Given the description of an element on the screen output the (x, y) to click on. 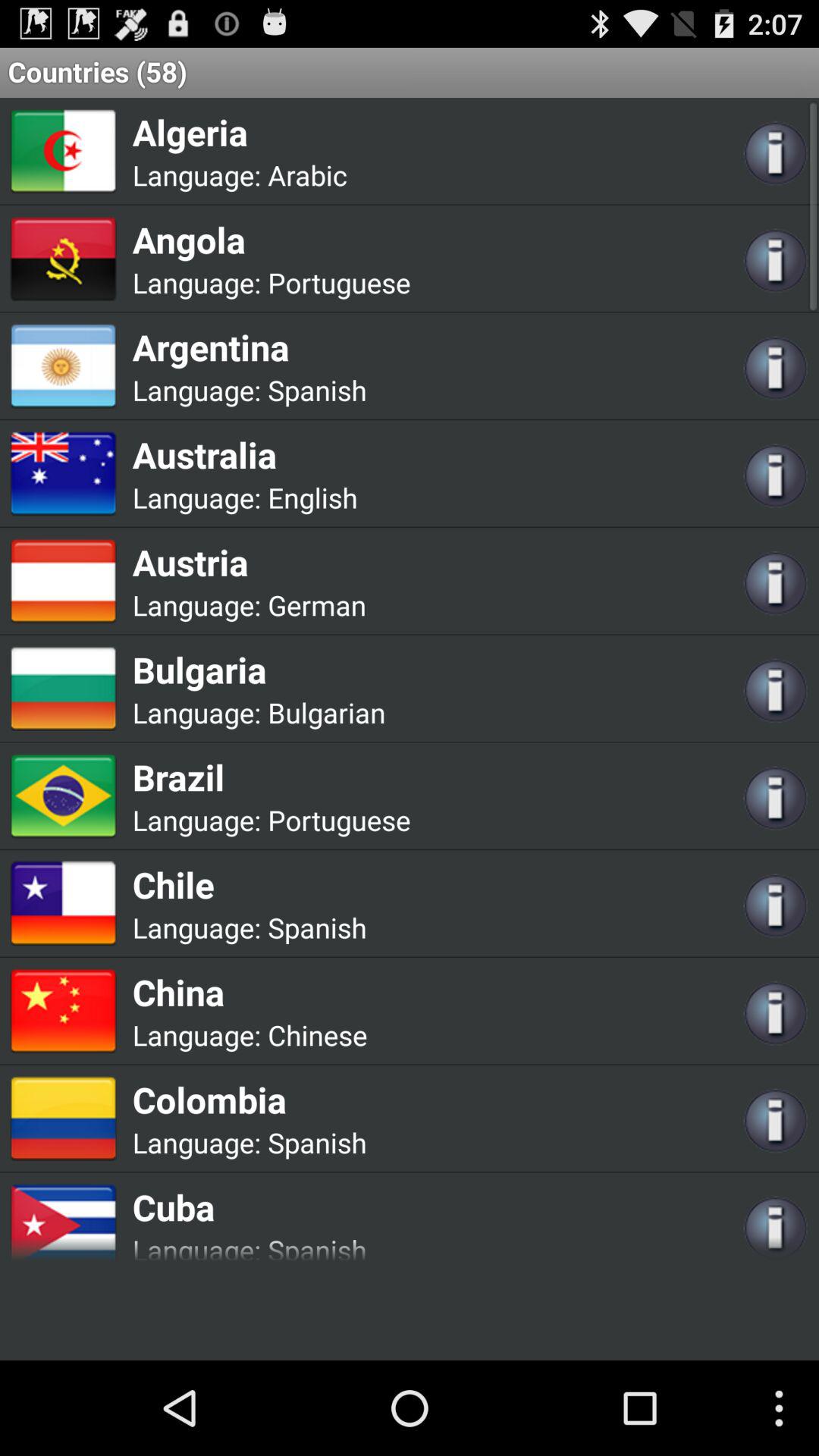
tap the icon to the right of language:  icon (316, 604)
